Given the description of an element on the screen output the (x, y) to click on. 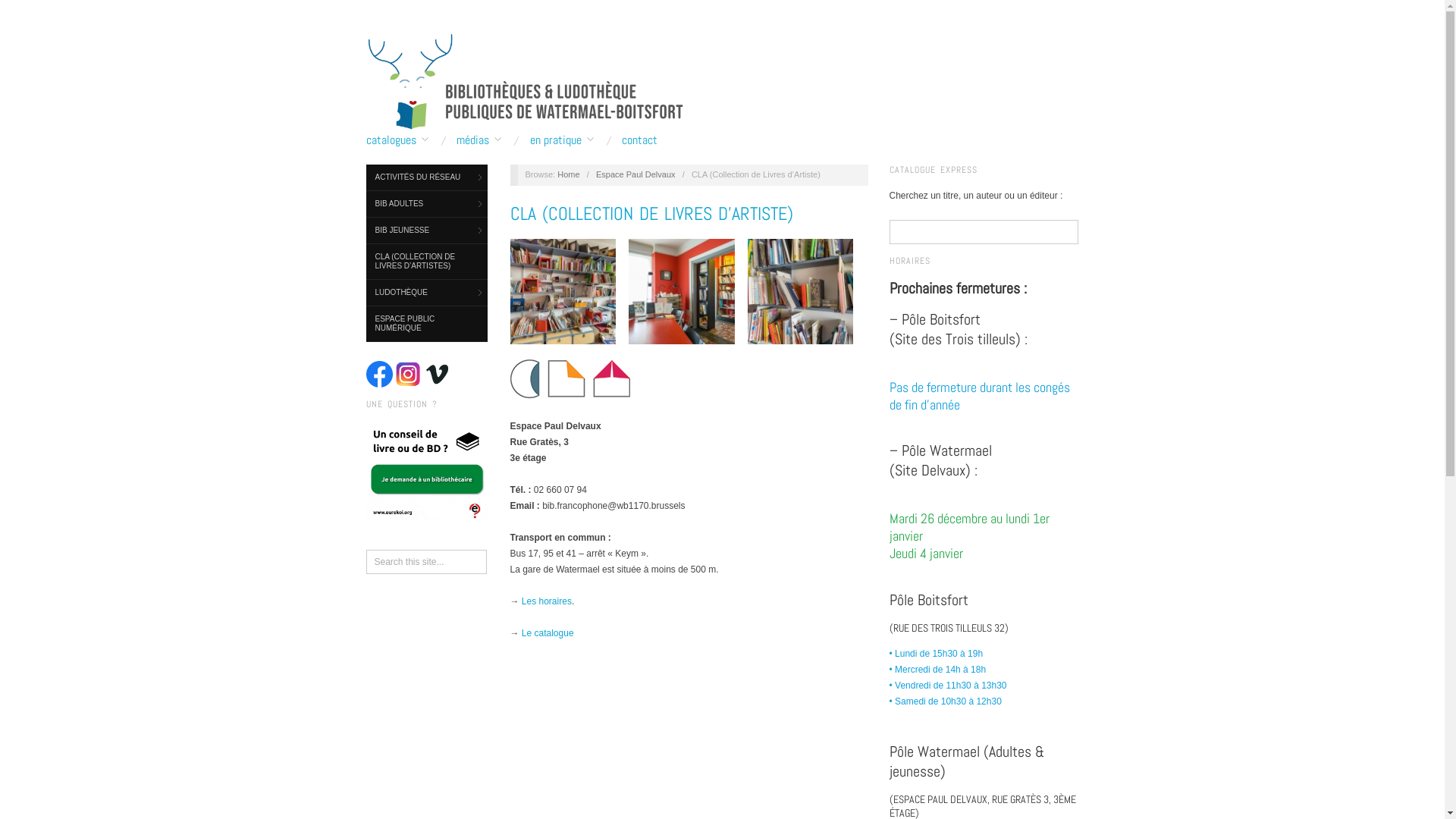
Les horaires Element type: text (546, 601)
en pratique Element type: text (561, 140)
Le catalogue Element type: text (547, 632)
contact Element type: text (639, 140)
Espace Paul Delvaux Element type: text (635, 173)
catalogues Element type: text (396, 140)
Facebook Element type: hover (378, 373)
Search Element type: text (25, 10)
Vimeo Element type: hover (436, 373)
BIB ADULTES Element type: text (425, 204)
Instagram Element type: hover (408, 373)
Home Element type: text (568, 173)
BIB JEUNESSE Element type: text (425, 230)
